Given the description of an element on the screen output the (x, y) to click on. 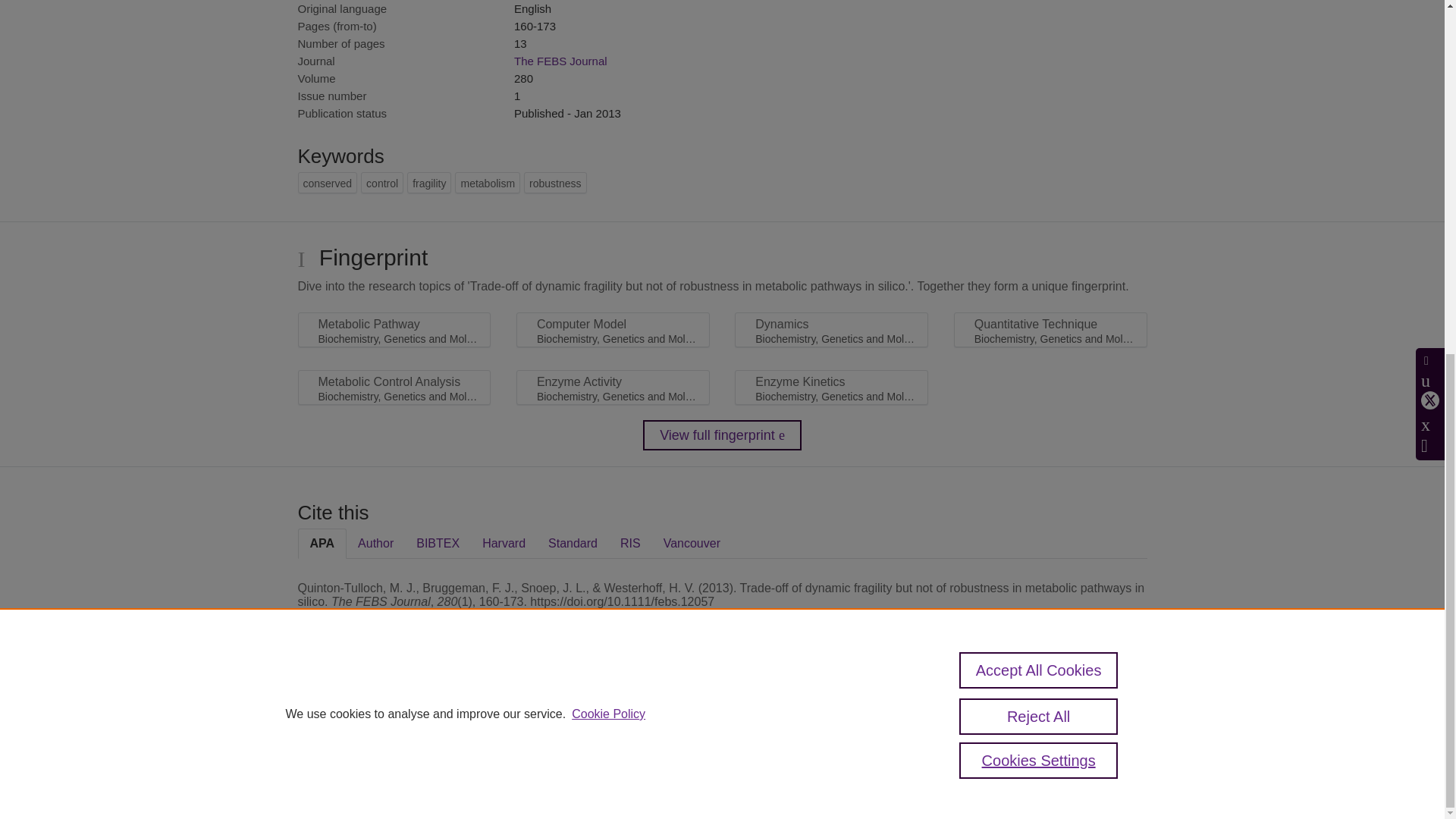
The FEBS Journal (560, 60)
View full fingerprint (722, 435)
Pure (362, 707)
use of cookies (796, 759)
Elsevier B.V. (506, 727)
Scopus (394, 707)
